Given the description of an element on the screen output the (x, y) to click on. 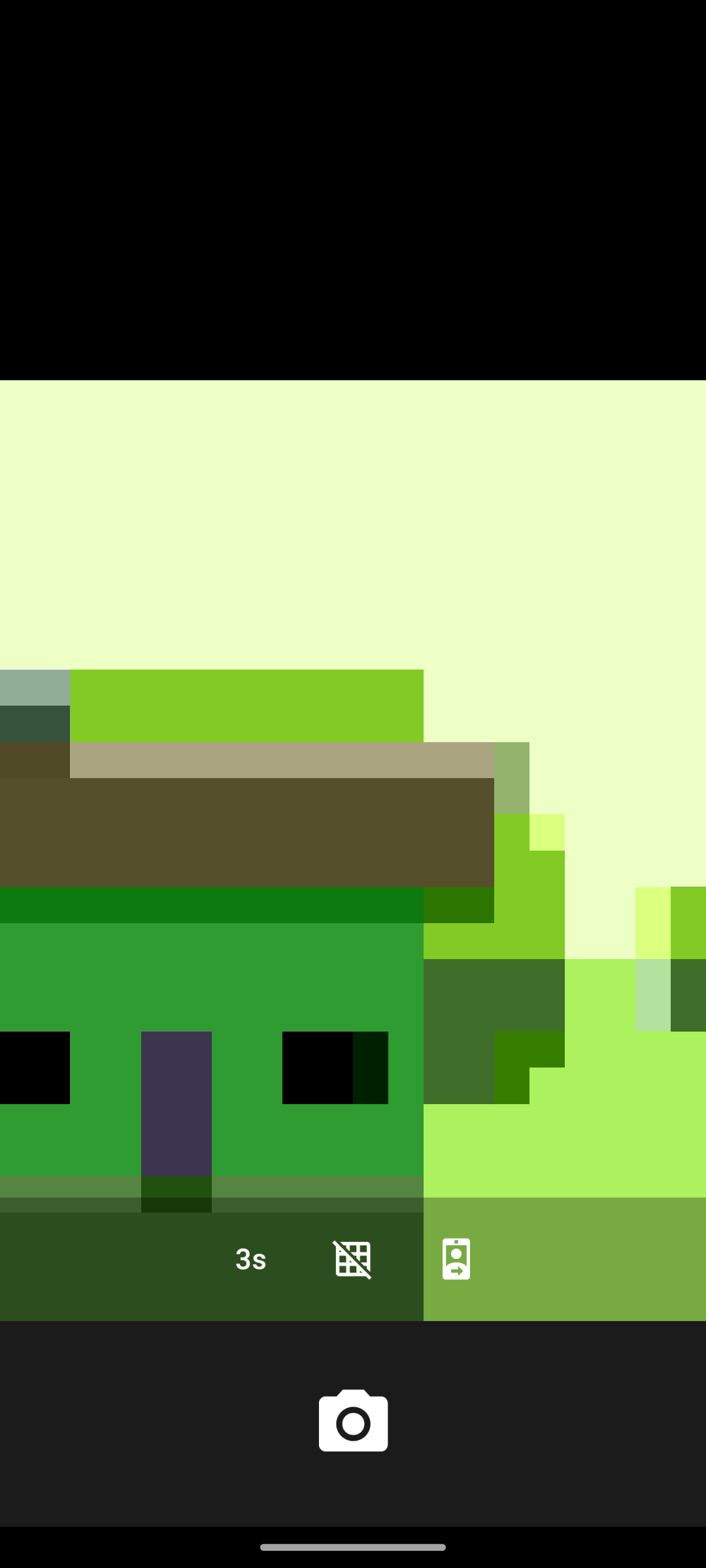
Countdown timer duration is set to 3 seconds (249, 1258)
Grid lines off (352, 1258)
Front camera (456, 1258)
Shutter (353, 1423)
